Given the description of an element on the screen output the (x, y) to click on. 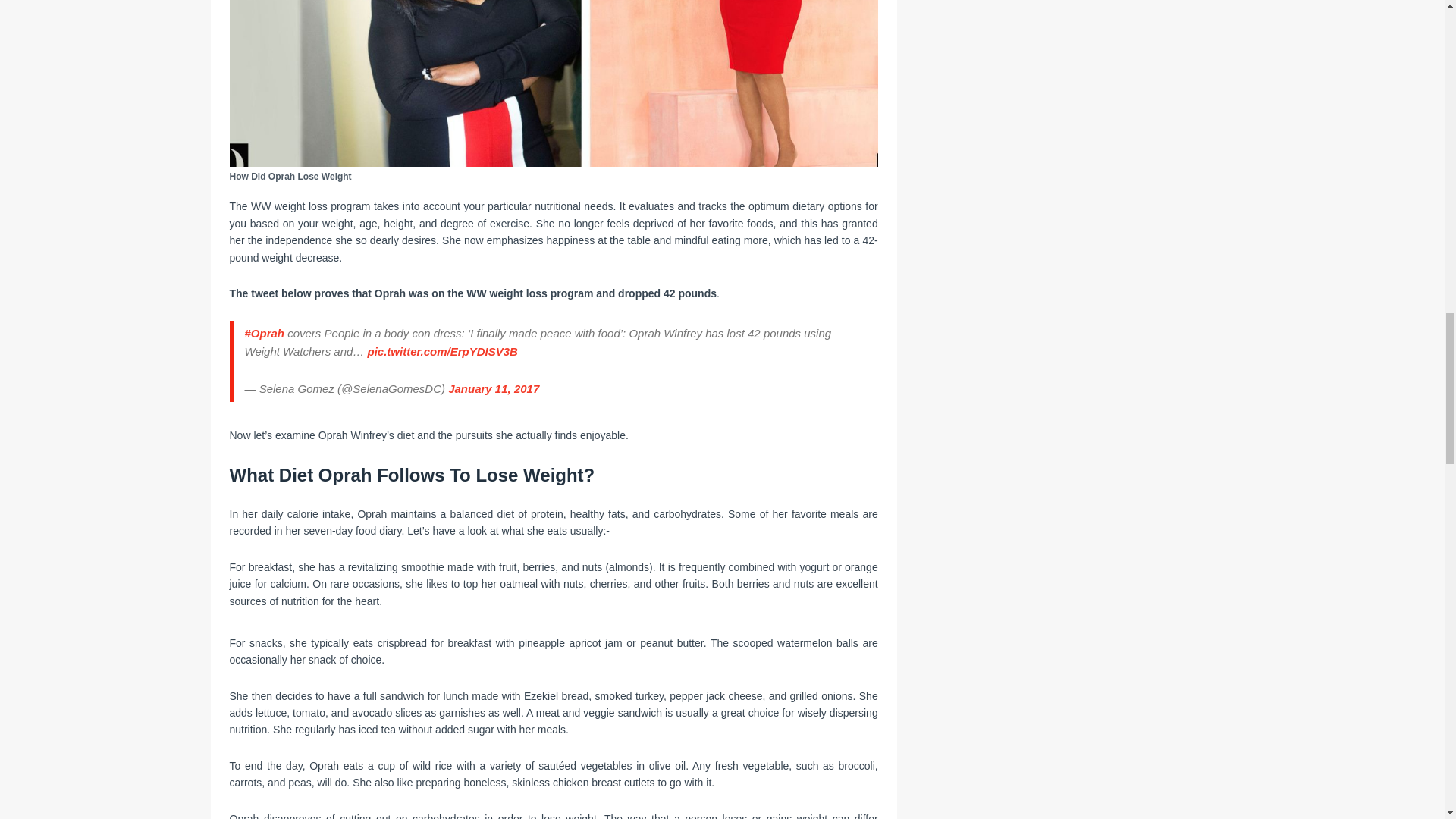
January 11, 2017 (493, 388)
